Given the description of an element on the screen output the (x, y) to click on. 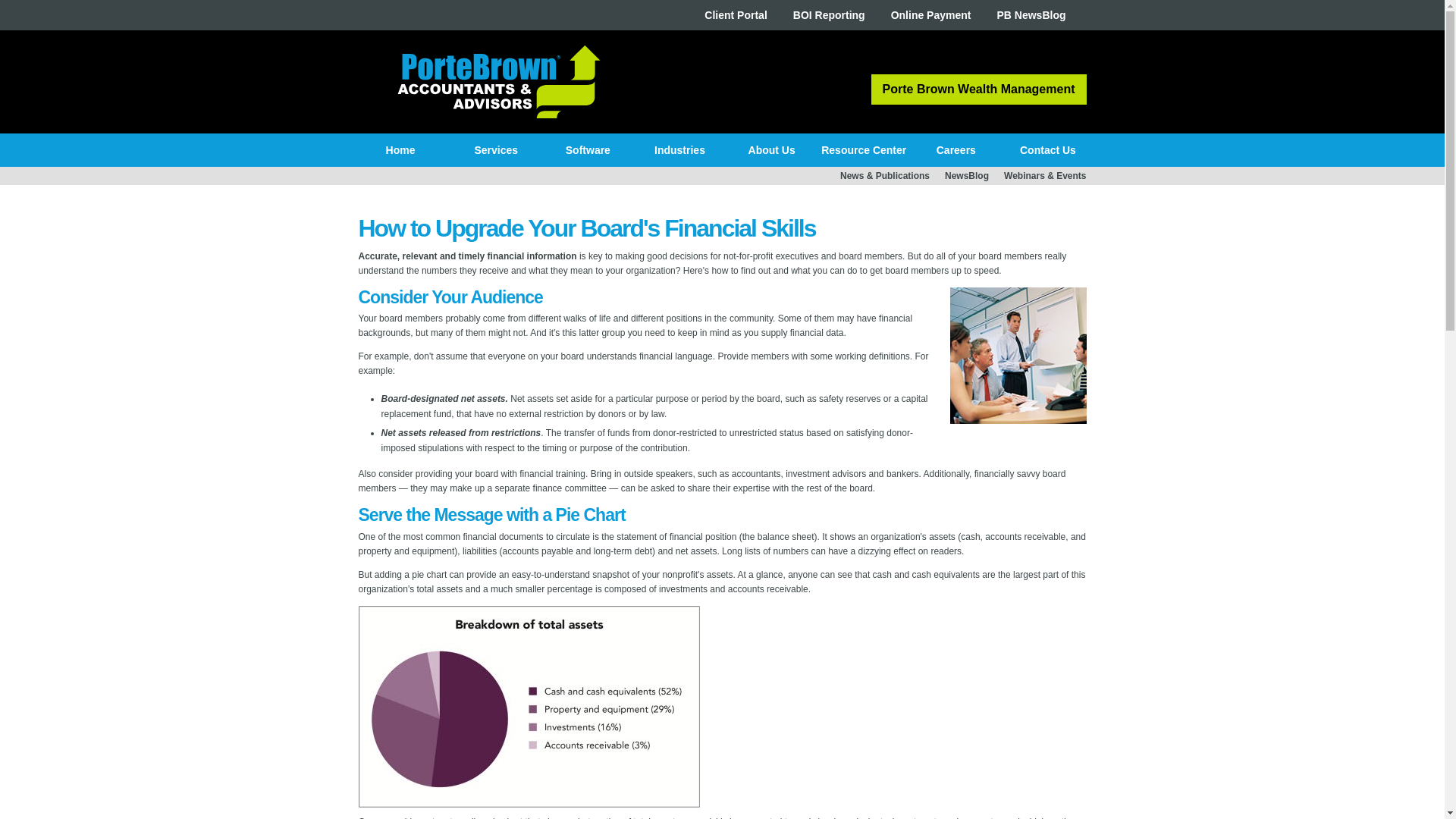
BOI Reporting (829, 15)
Software (587, 150)
Home (399, 150)
Client Portal (735, 15)
Industries (679, 150)
Porte Brown Wealth Management (978, 89)
Services (495, 150)
PB NewsBlog (1030, 15)
Online Payment (930, 15)
